Given the description of an element on the screen output the (x, y) to click on. 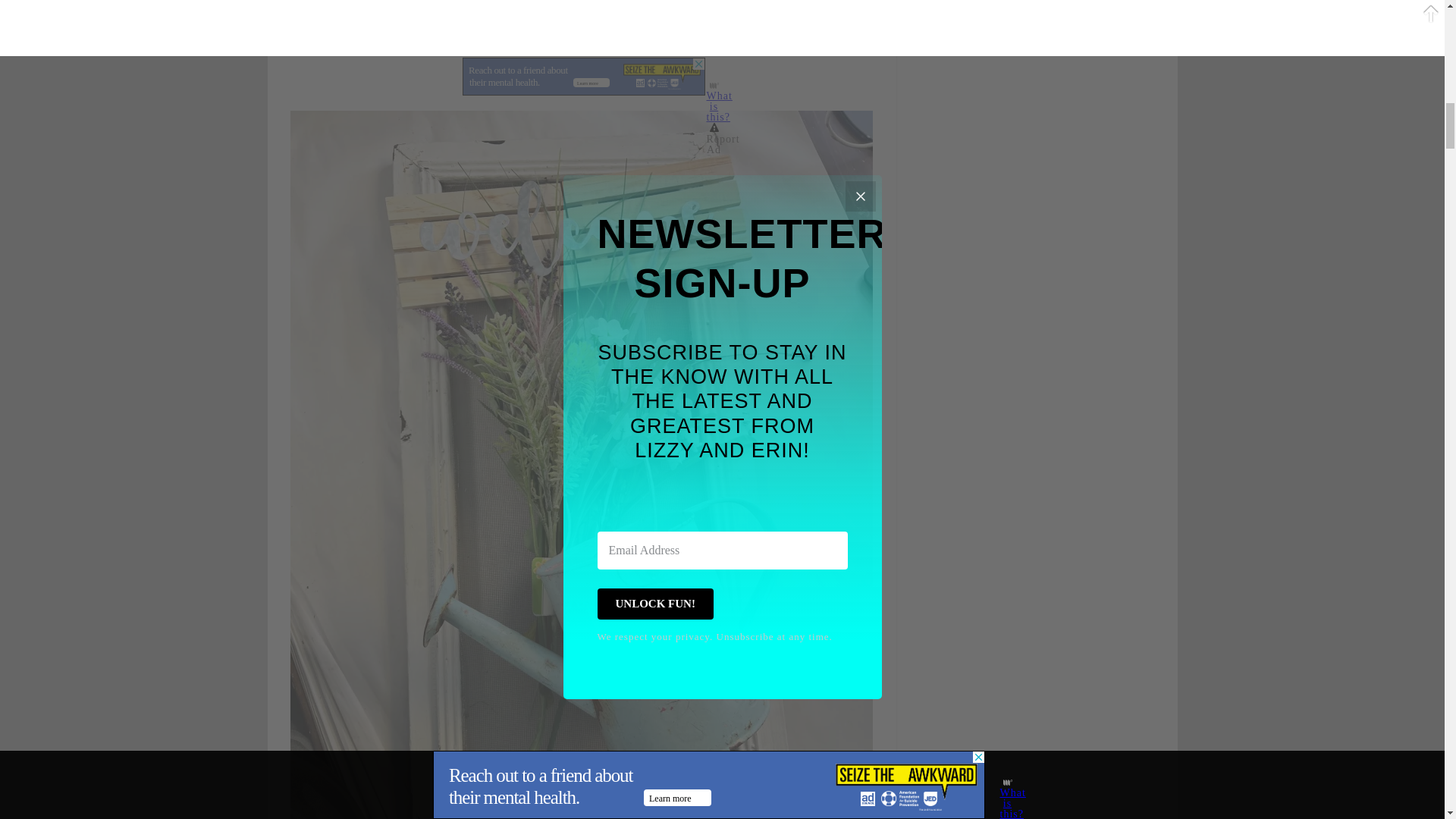
3rd party ad content (583, 76)
